Given the description of an element on the screen output the (x, y) to click on. 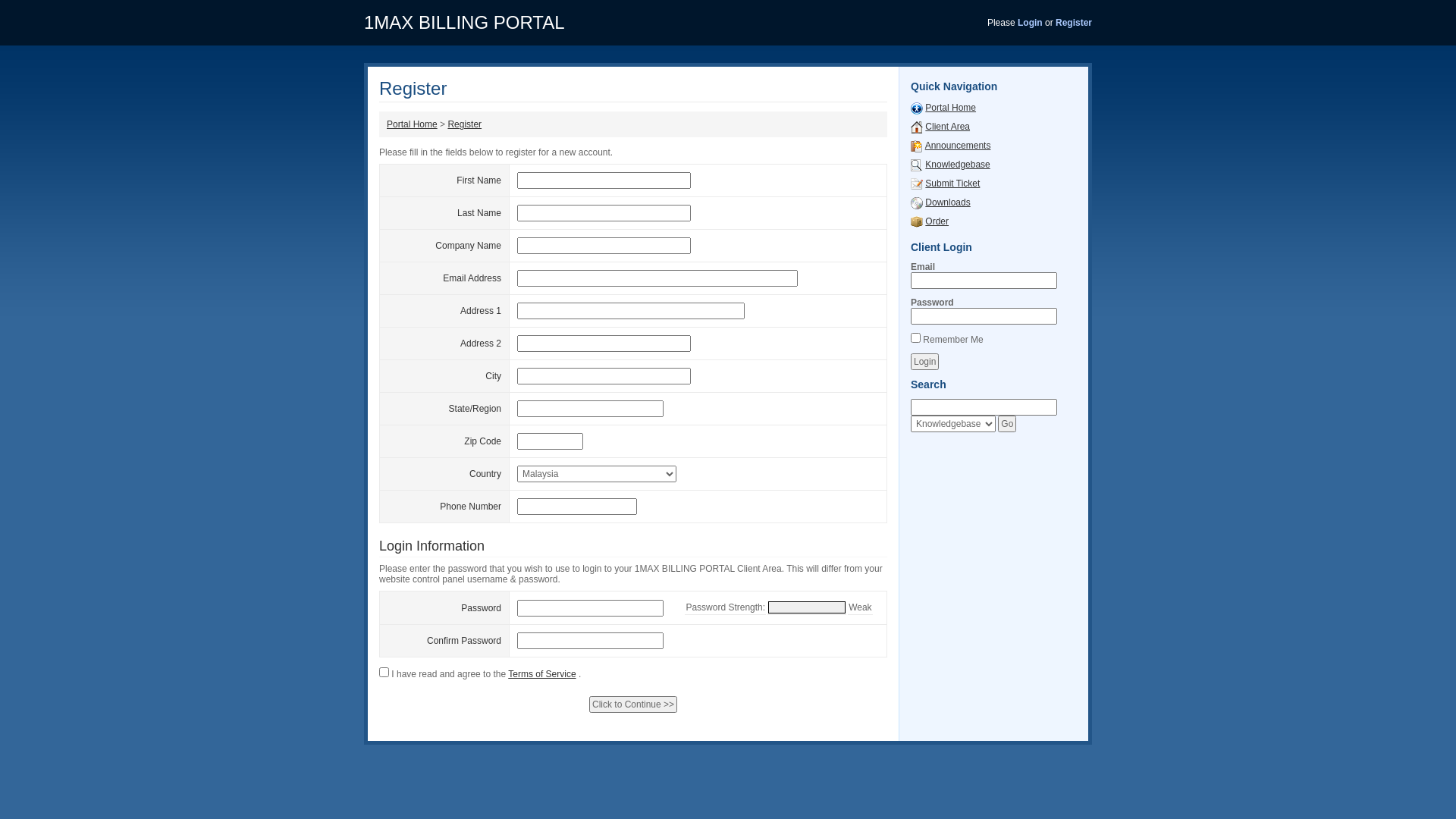
Order Element type: hover (916, 221)
Click to Continue >> Element type: text (633, 704)
Portal Home Element type: text (411, 124)
Announcements Element type: text (958, 145)
Downloads Element type: hover (916, 202)
Order Element type: text (936, 221)
Terms of Service Element type: text (541, 673)
Login Element type: text (1029, 22)
Client Area Element type: text (947, 126)
Submit Ticket Element type: text (952, 183)
Knowledgebase Element type: hover (916, 164)
Register Element type: text (1073, 22)
Portal Home Element type: text (950, 107)
Submit Ticket Element type: hover (916, 183)
Announcements Element type: hover (916, 145)
Knowledgebase Element type: text (957, 164)
Login Element type: text (924, 361)
Go Element type: text (1006, 423)
Register Element type: text (464, 124)
Downloads Element type: text (947, 202)
